Given the description of an element on the screen output the (x, y) to click on. 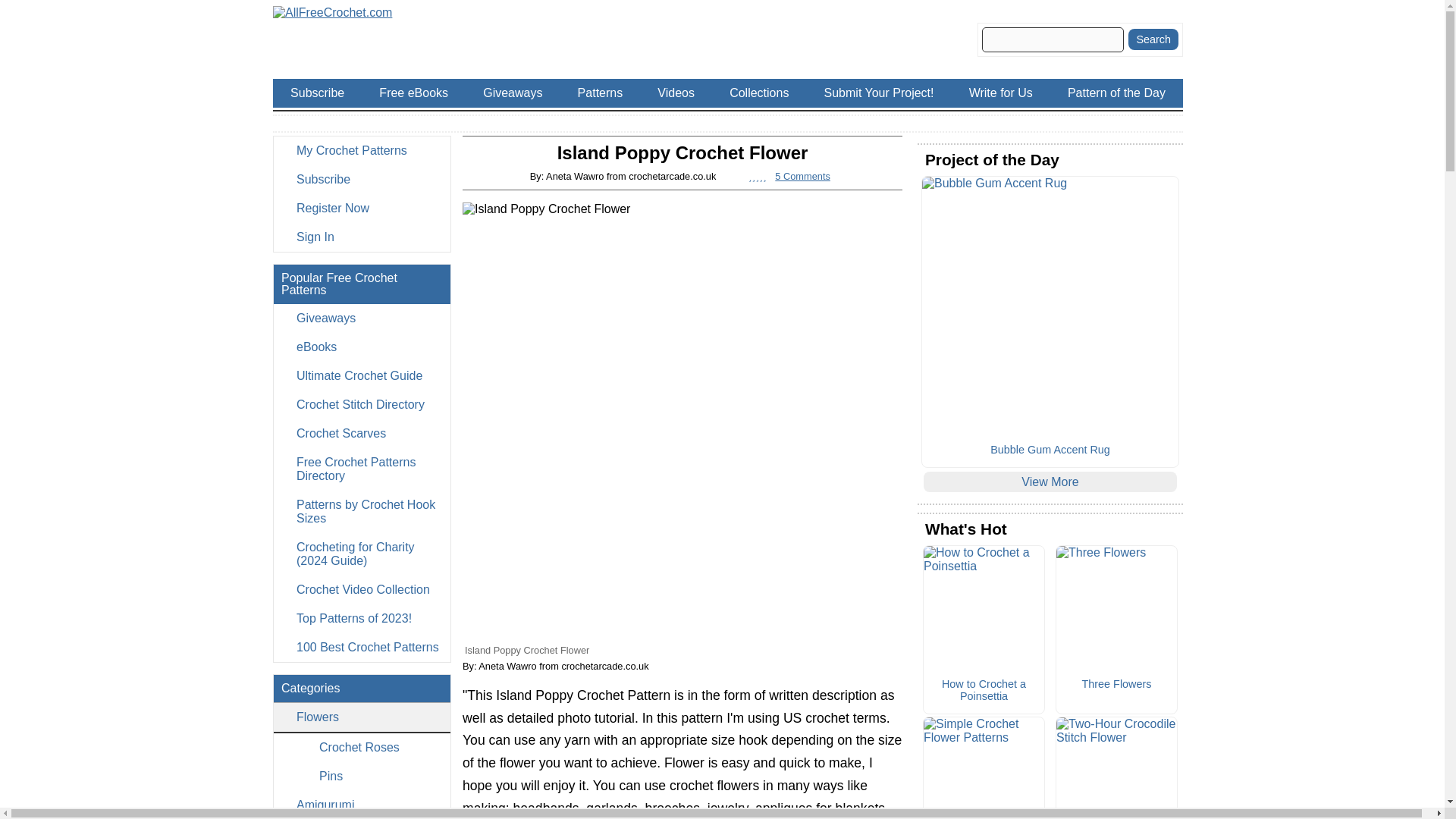
My Crochet Patterns (361, 150)
Subscribe (361, 179)
Search (1152, 38)
Register Now (361, 208)
Sign In (361, 236)
